Given the description of an element on the screen output the (x, y) to click on. 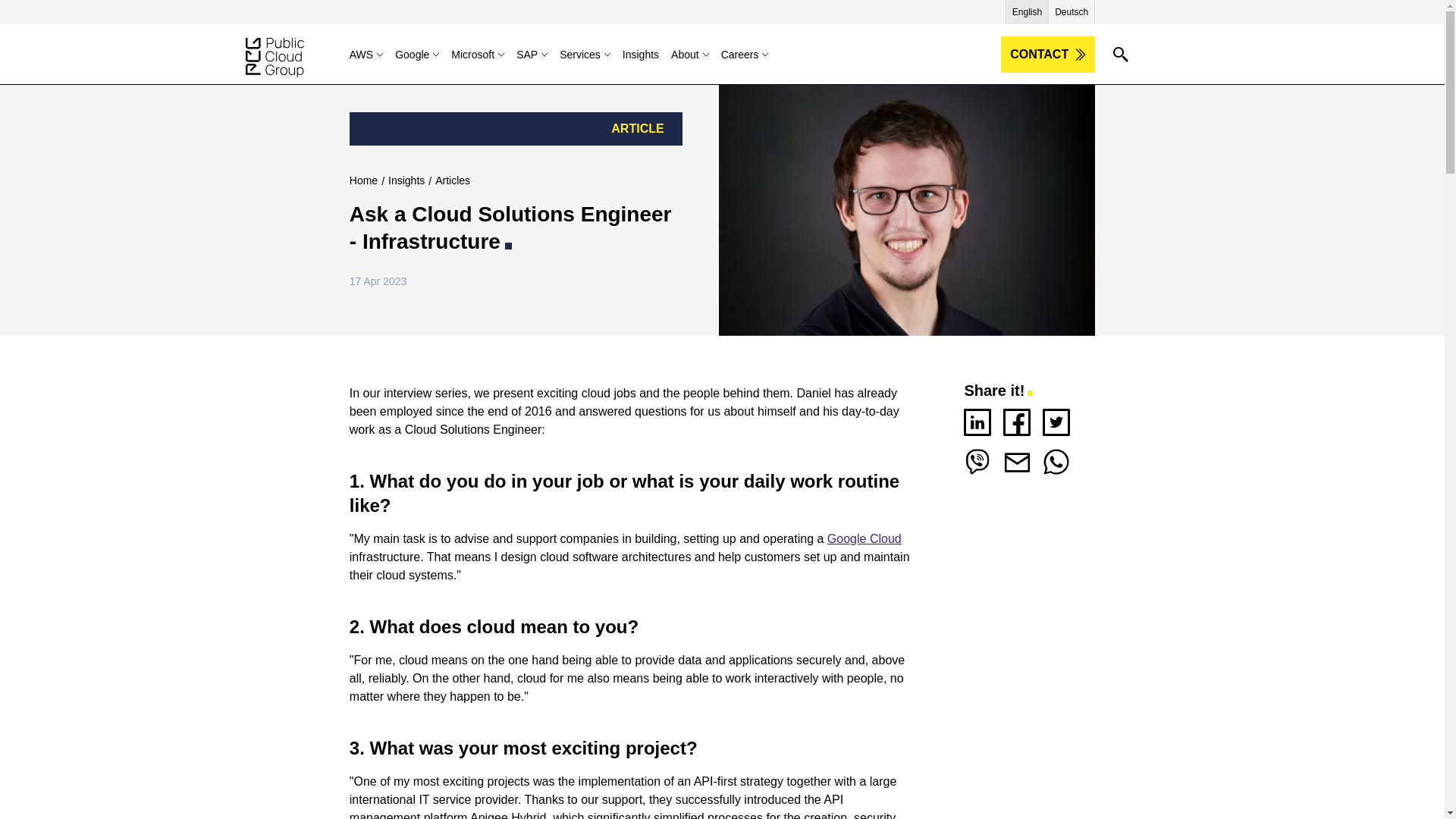
Deutsch (1070, 11)
English (1026, 11)
Google (422, 54)
